Given the description of an element on the screen output the (x, y) to click on. 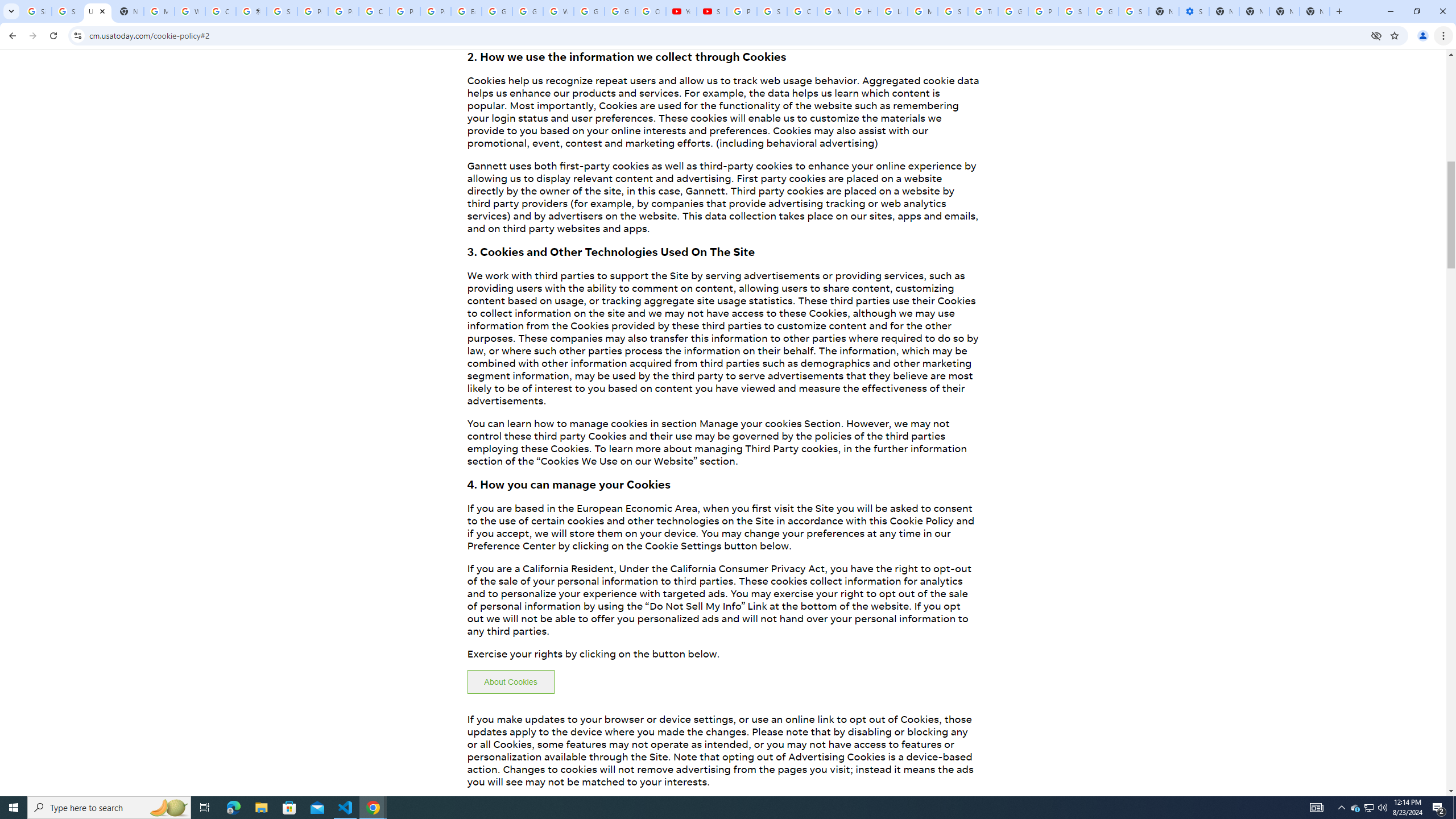
Create your Google Account (220, 11)
Edit and view right-to-left text - Google Docs Editors Help (465, 11)
Sign in - Google Accounts (1072, 11)
Welcome to My Activity (558, 11)
YouTube (681, 11)
